Given the description of an element on the screen output the (x, y) to click on. 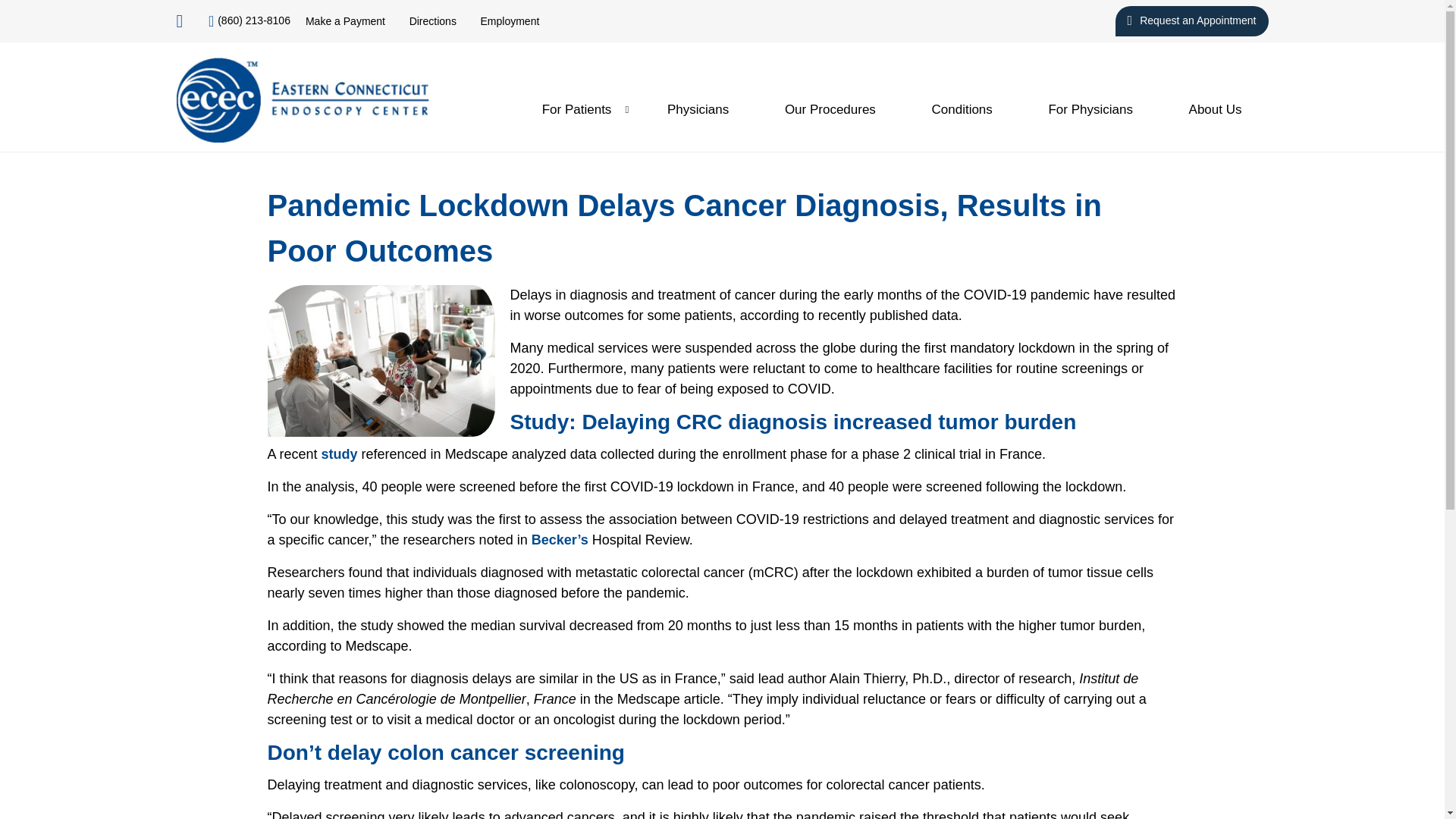
About Us (1215, 109)
Request an Appointment (1191, 20)
Conditions (961, 109)
Our Procedures (830, 109)
Eastern Connecticut Endoscopy Center (302, 96)
Physicians (697, 109)
Directions (433, 21)
Employment (510, 21)
Make a Payment (345, 21)
For Patients (576, 109)
